Given the description of an element on the screen output the (x, y) to click on. 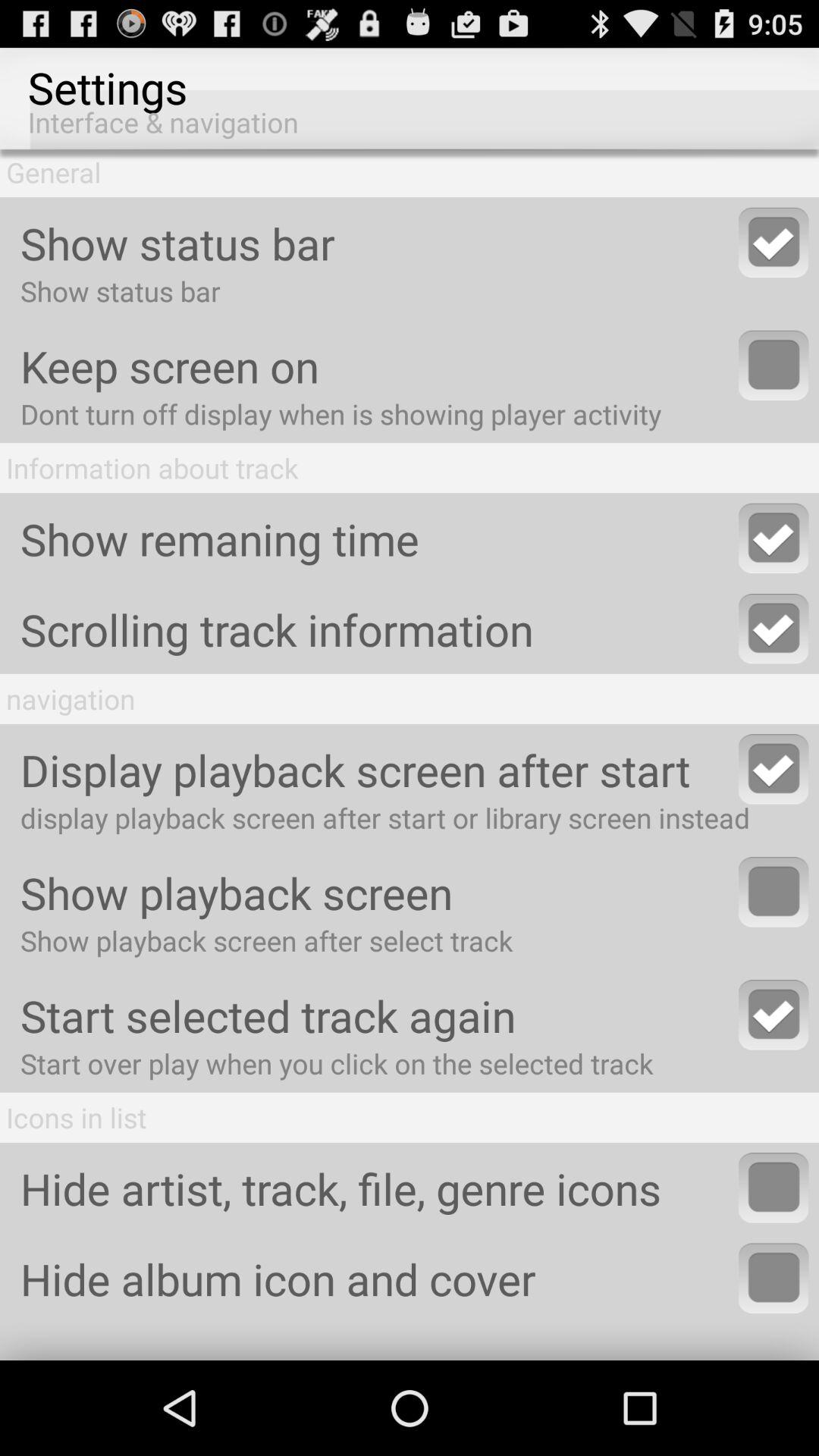
toggle playback screen (773, 892)
